Given the description of an element on the screen output the (x, y) to click on. 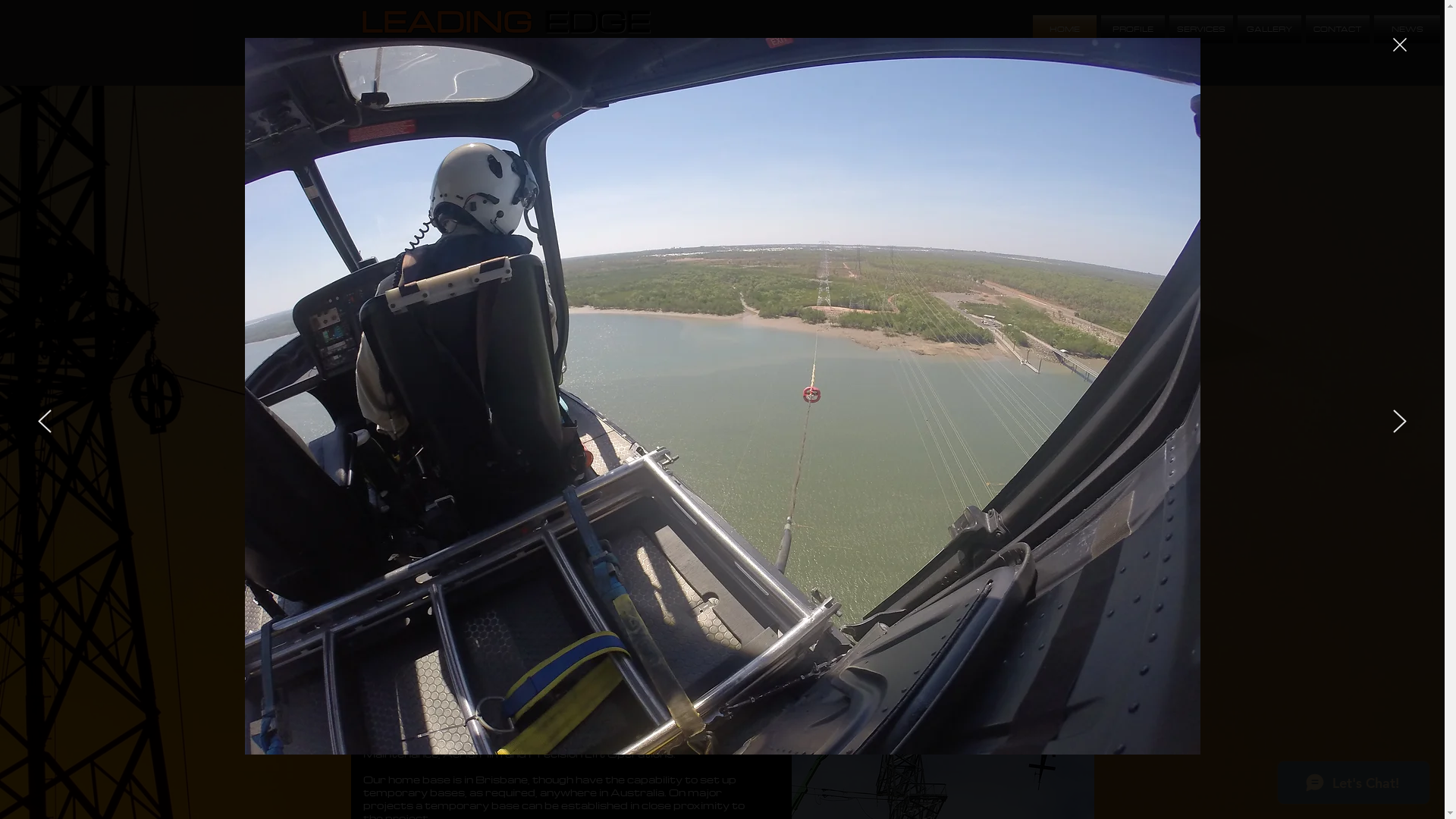
HOME Element type: text (1064, 29)
PROFILE Element type: text (1132, 29)
CONTACT Element type: text (1337, 29)
SERVICES Element type: text (1201, 29)
GALLERY Element type: text (1269, 29)
NEWS Element type: text (1405, 29)
